Given the description of an element on the screen output the (x, y) to click on. 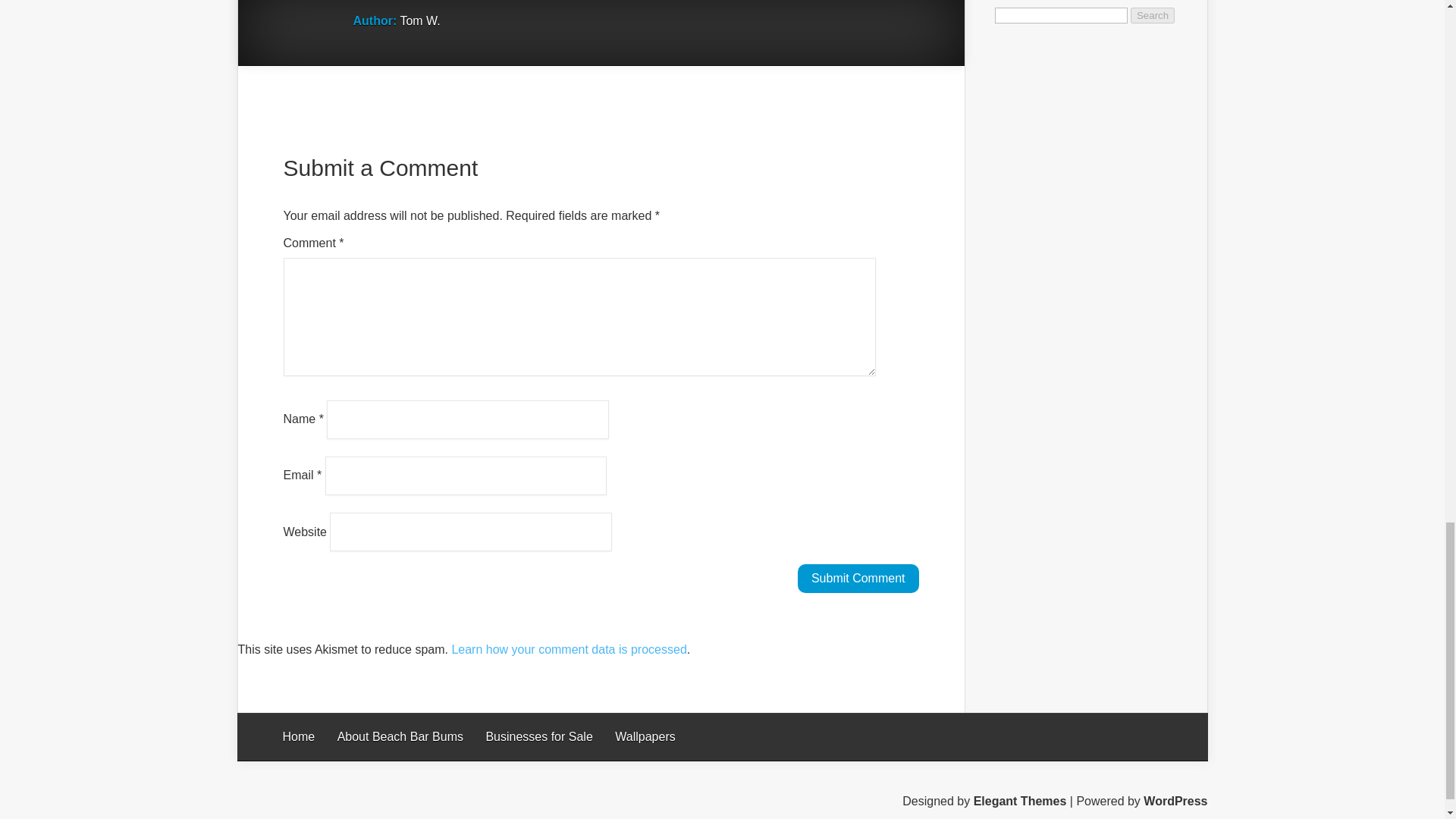
Premium WordPress Themes (1020, 800)
Submit Comment (857, 578)
Learn how your comment data is processed (568, 649)
Submit Comment (857, 578)
Search (1152, 15)
